Given the description of an element on the screen output the (x, y) to click on. 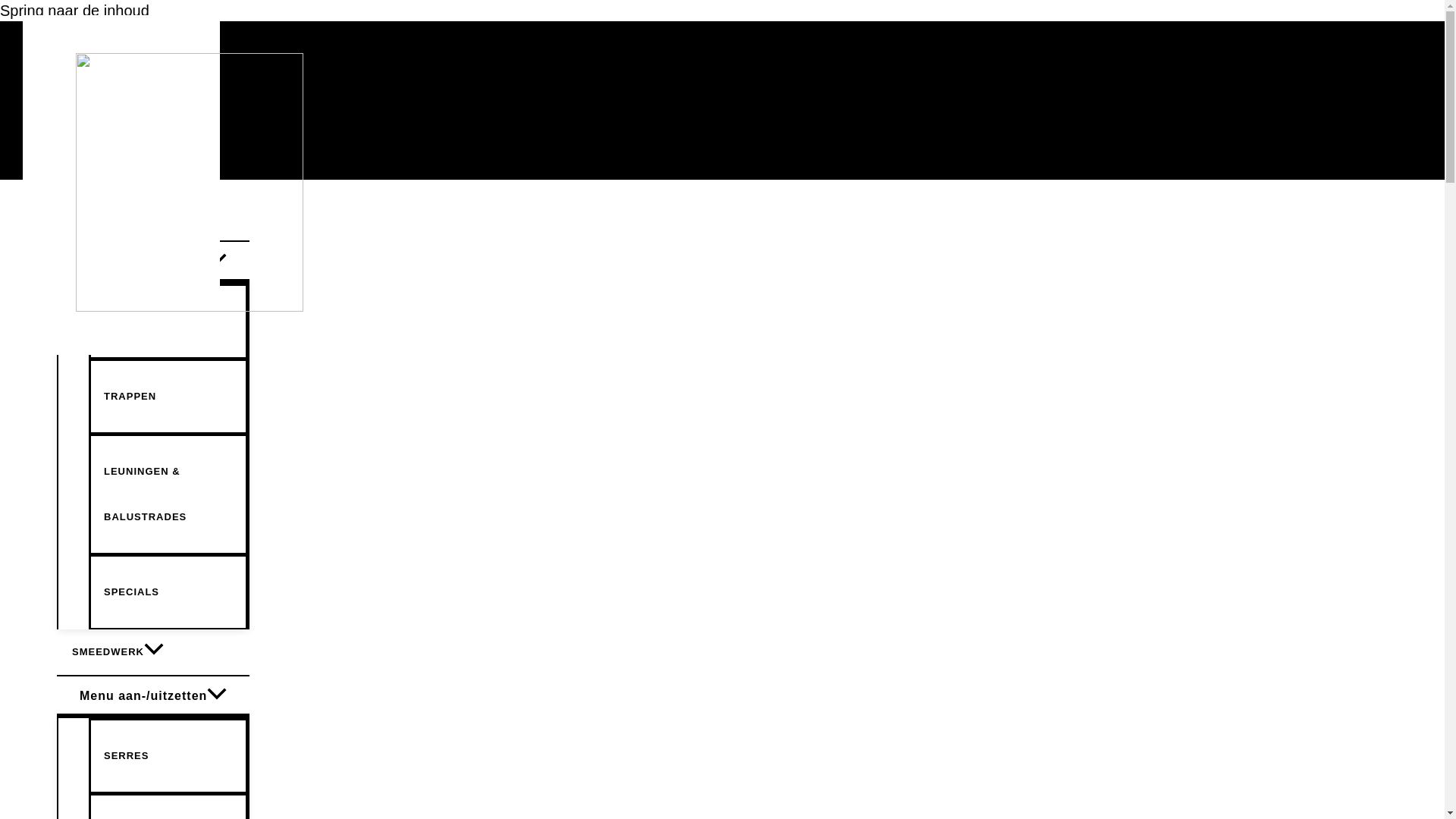
Home Element type: text (84, 49)
SERRES Element type: text (167, 755)
Over ons Element type: text (84, 102)
Menu aan-/uitzetten Element type: text (152, 694)
TRAPPEN Element type: text (167, 395)
Inspiratie Element type: text (84, 75)
SPECIALS Element type: text (167, 591)
MEUBELS Element type: text (167, 320)
LEUNINGEN & BALUSTRADES Element type: text (167, 493)
MAATWERK Element type: text (152, 217)
SMEEDWERK Element type: text (152, 651)
Spring naar de inhoud Element type: text (74, 10)
Menu aan-/uitzetten Element type: text (152, 260)
050 78 00 98 Element type: text (84, 129)
